Given the description of an element on the screen output the (x, y) to click on. 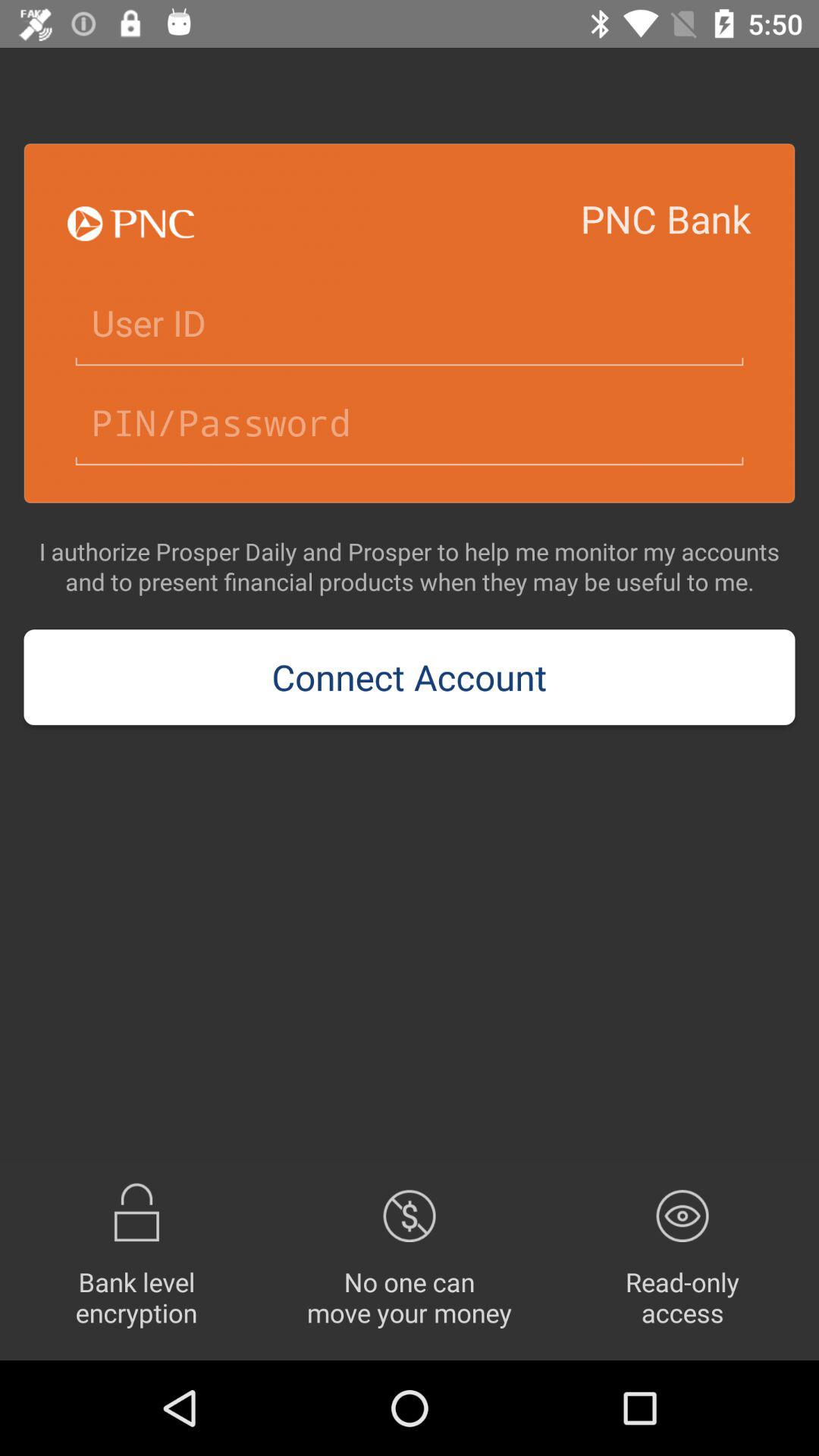
text box (409, 423)
